Given the description of an element on the screen output the (x, y) to click on. 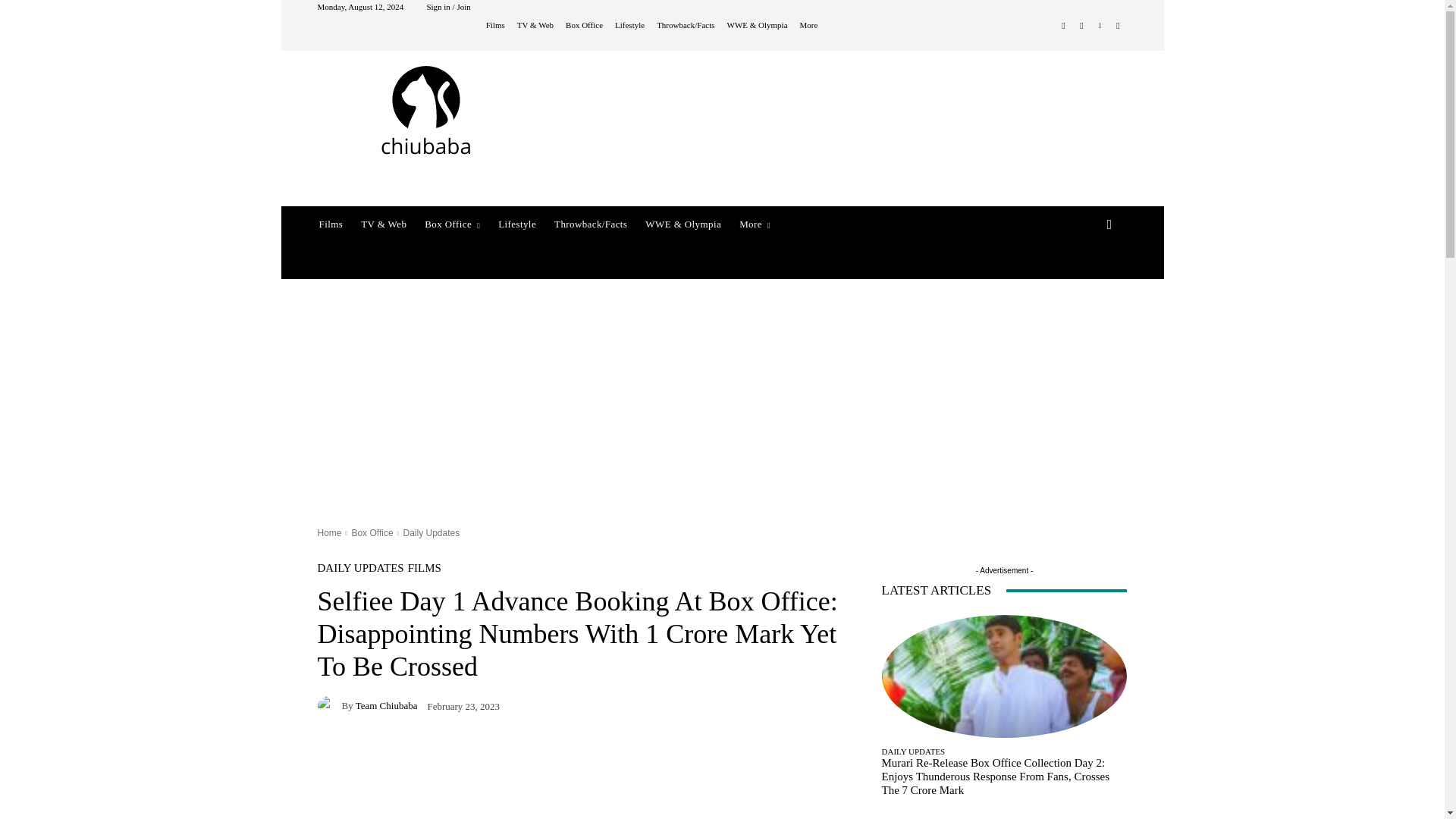
Twitter (1117, 25)
Instagram (1080, 25)
Pinterest (1099, 25)
Facebook (1062, 25)
More (808, 25)
Films (495, 25)
Box Office (584, 25)
Lifestyle (629, 25)
